Given the description of an element on the screen output the (x, y) to click on. 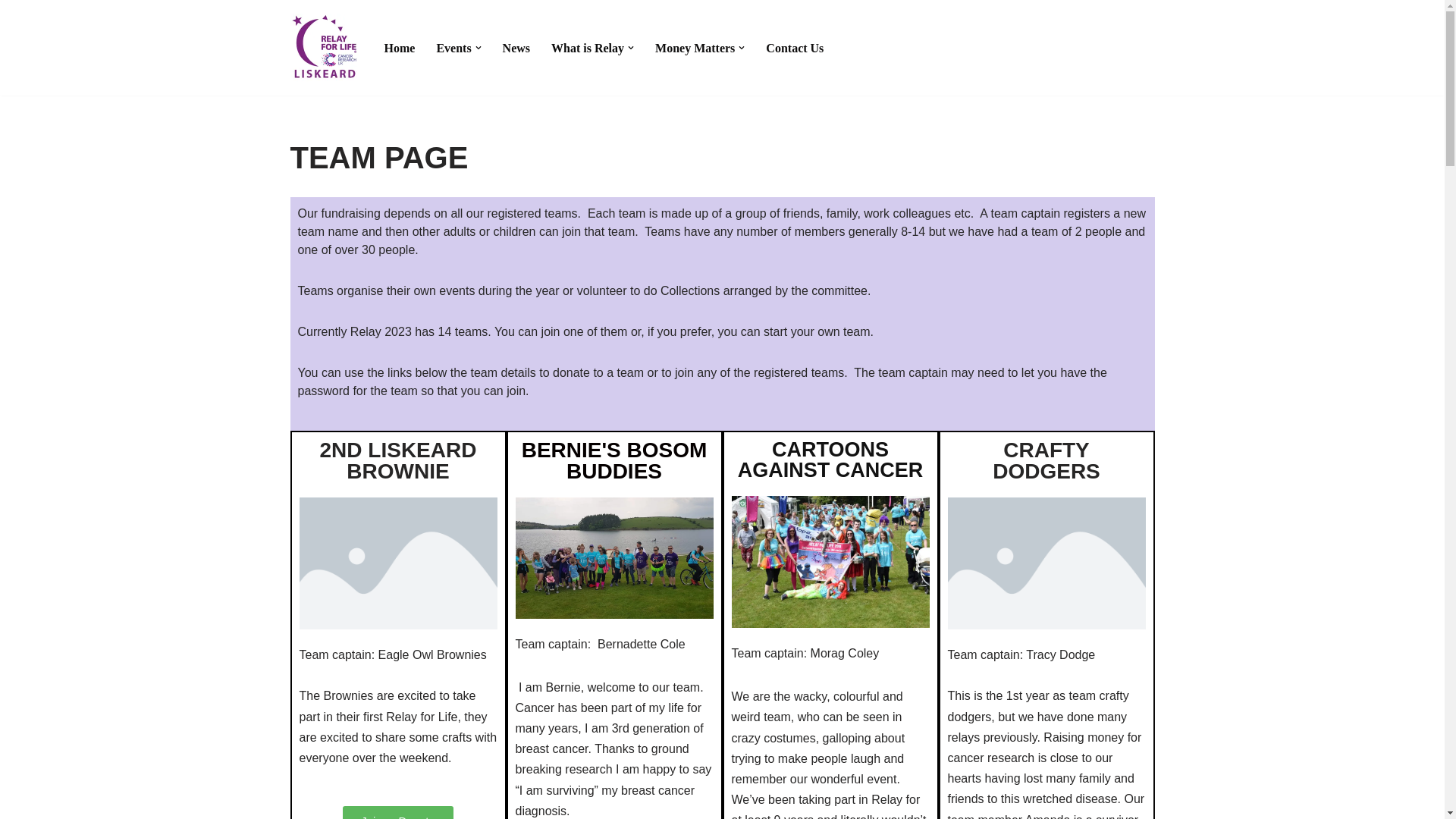
Events (452, 47)
Home (399, 47)
Money Matters (695, 47)
What is Relay (587, 47)
Skip to content (11, 31)
Contact Us (794, 47)
News (515, 47)
